Given the description of an element on the screen output the (x, y) to click on. 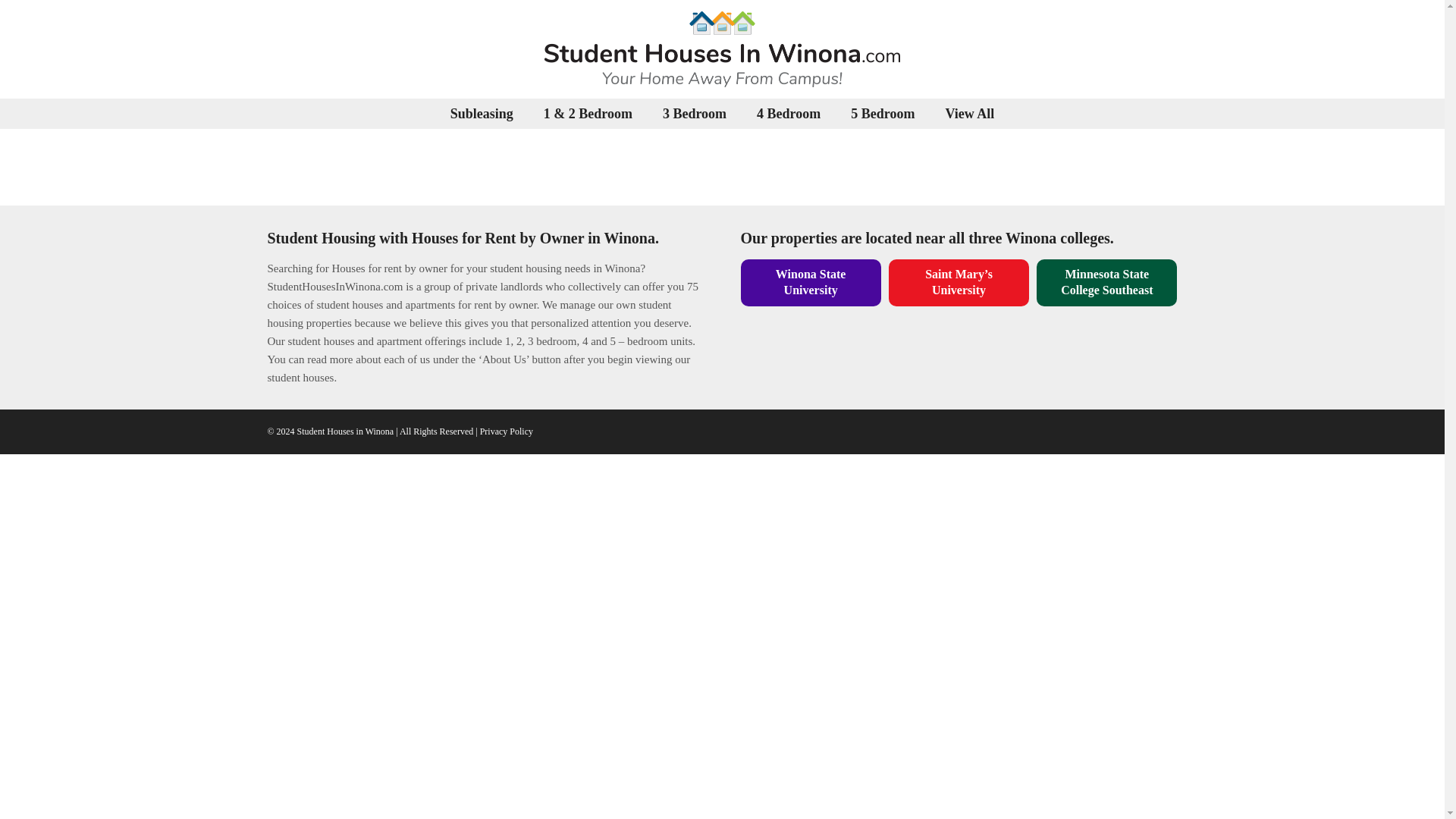
Privacy Policy (506, 430)
3 Bedroom (694, 113)
Subleasing (481, 113)
5 Bedroom (882, 113)
View All (969, 113)
4 Bedroom (789, 113)
